Given the description of an element on the screen output the (x, y) to click on. 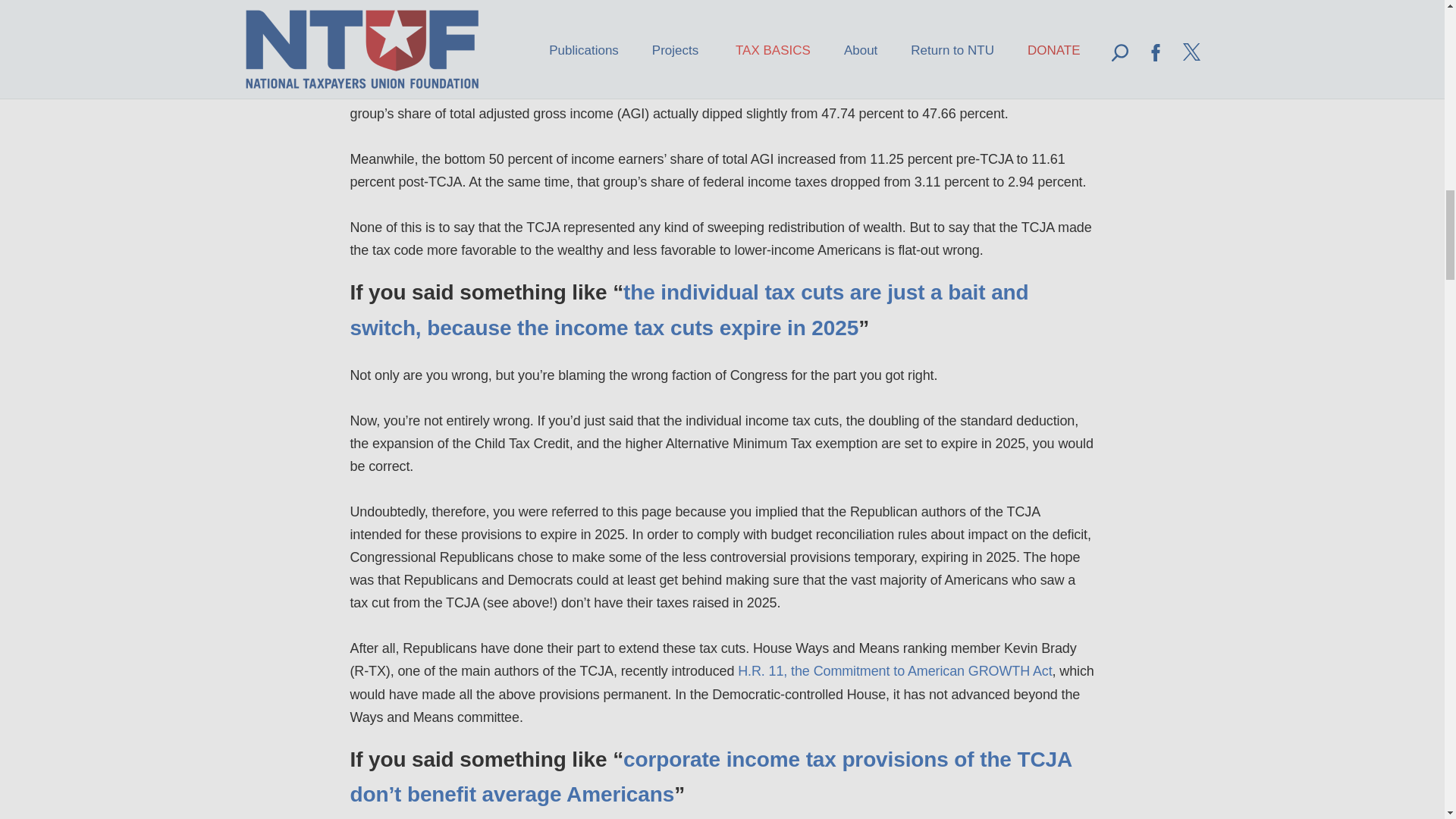
70.1 percent pre-TCJA to 71.3 percent post-TCJA (498, 90)
H.R. 11, the Commitment to American GROWTH Act (894, 670)
